Given the description of an element on the screen output the (x, y) to click on. 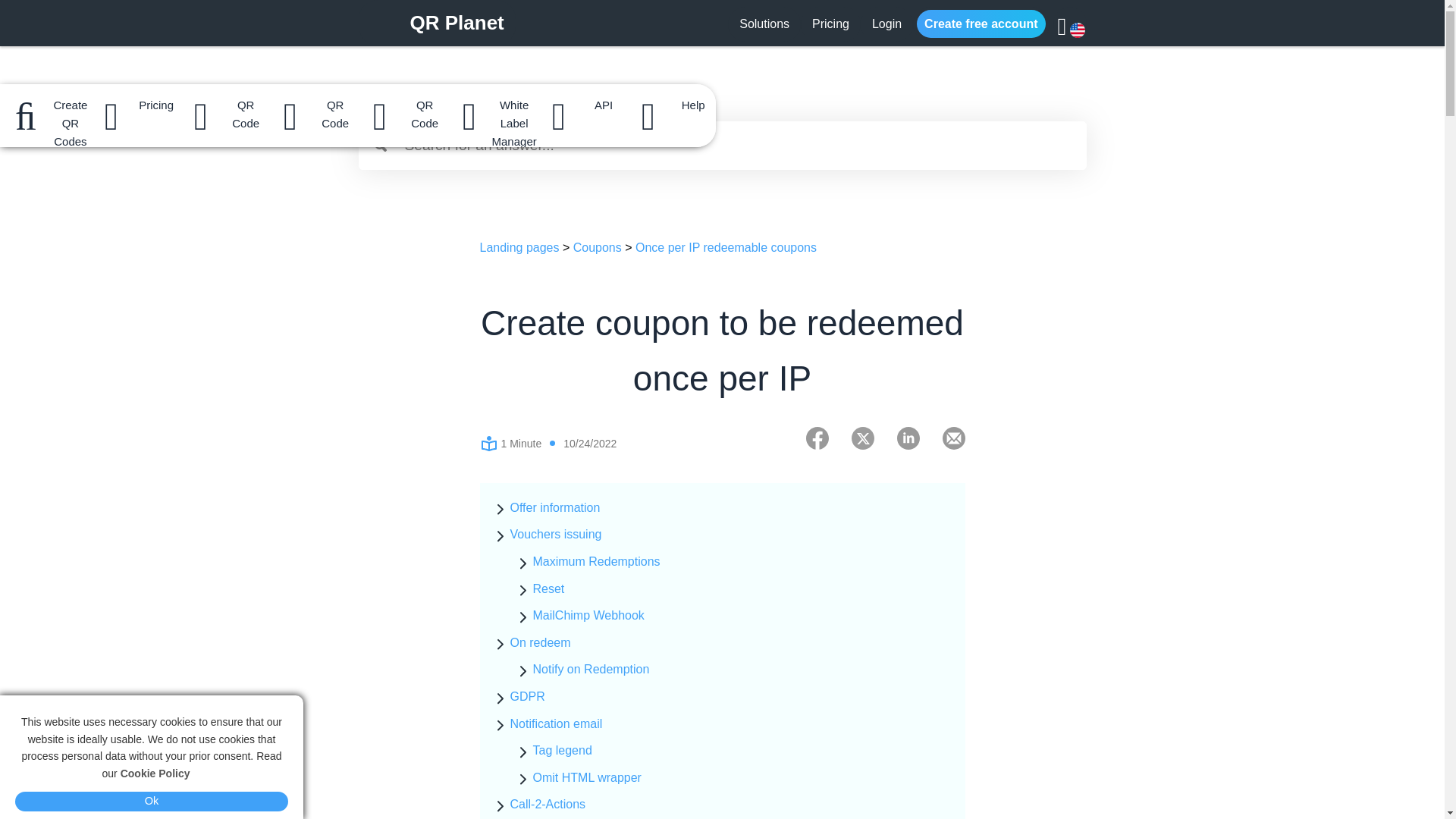
Notify on Redemption (590, 668)
Landing pages (519, 246)
Call-2-Actions (547, 803)
QR Planet (456, 24)
Omit HTML wrapper (586, 777)
Solutions (764, 23)
MailChimp Webhook (587, 615)
Cookie Policy (155, 773)
Coupons (597, 246)
GDPR (526, 696)
Reset (548, 588)
Notification email (555, 723)
Ok (151, 801)
Pricing (831, 23)
Login (886, 23)
